Given the description of an element on the screen output the (x, y) to click on. 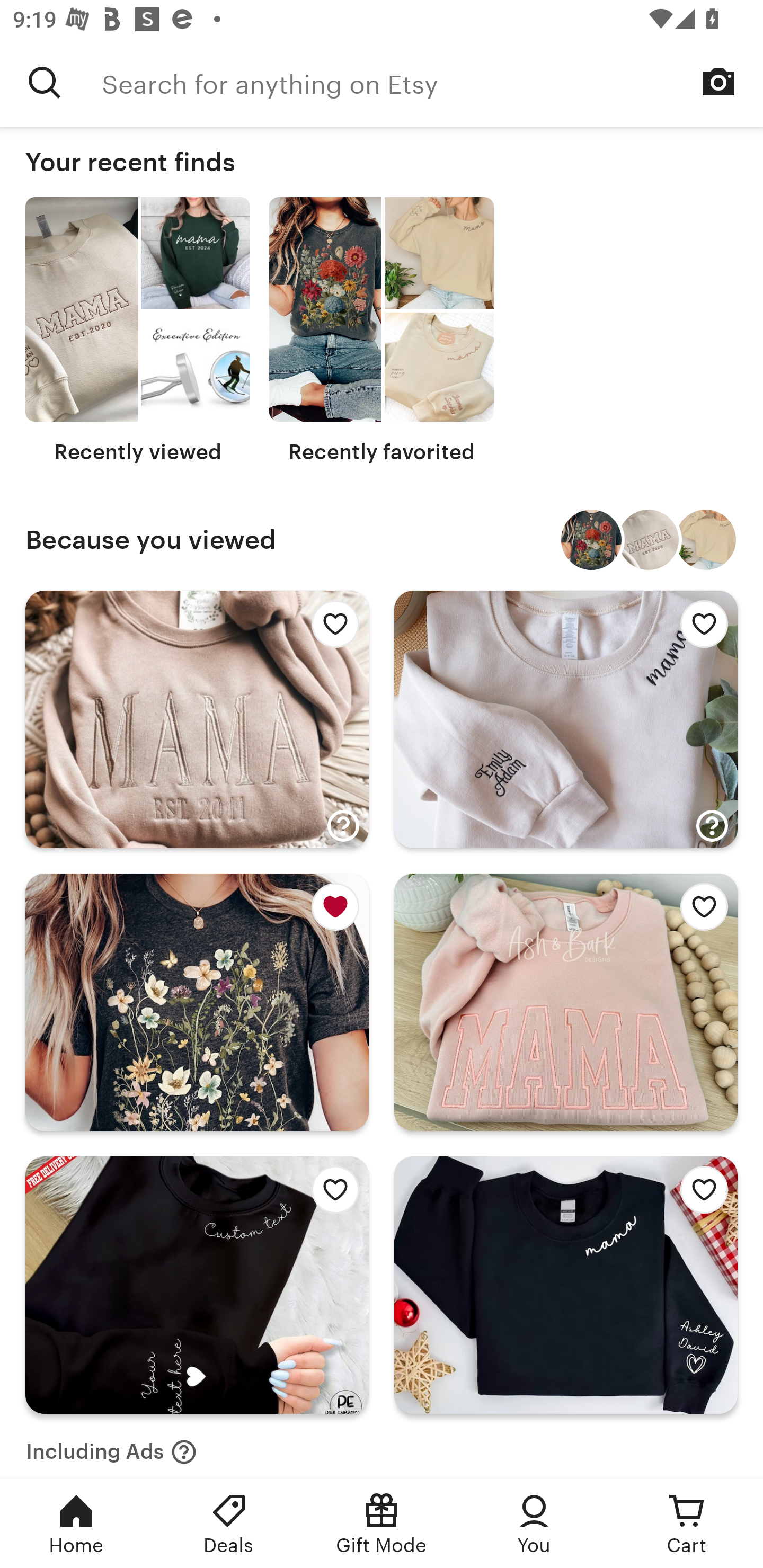
Search for anything on Etsy (44, 82)
Search by image (718, 81)
Search for anything on Etsy (432, 82)
Recently viewed (137, 330)
Recently favorited (381, 330)
Including Ads (111, 1446)
Deals (228, 1523)
Gift Mode (381, 1523)
You (533, 1523)
Cart (686, 1523)
